Given the description of an element on the screen output the (x, y) to click on. 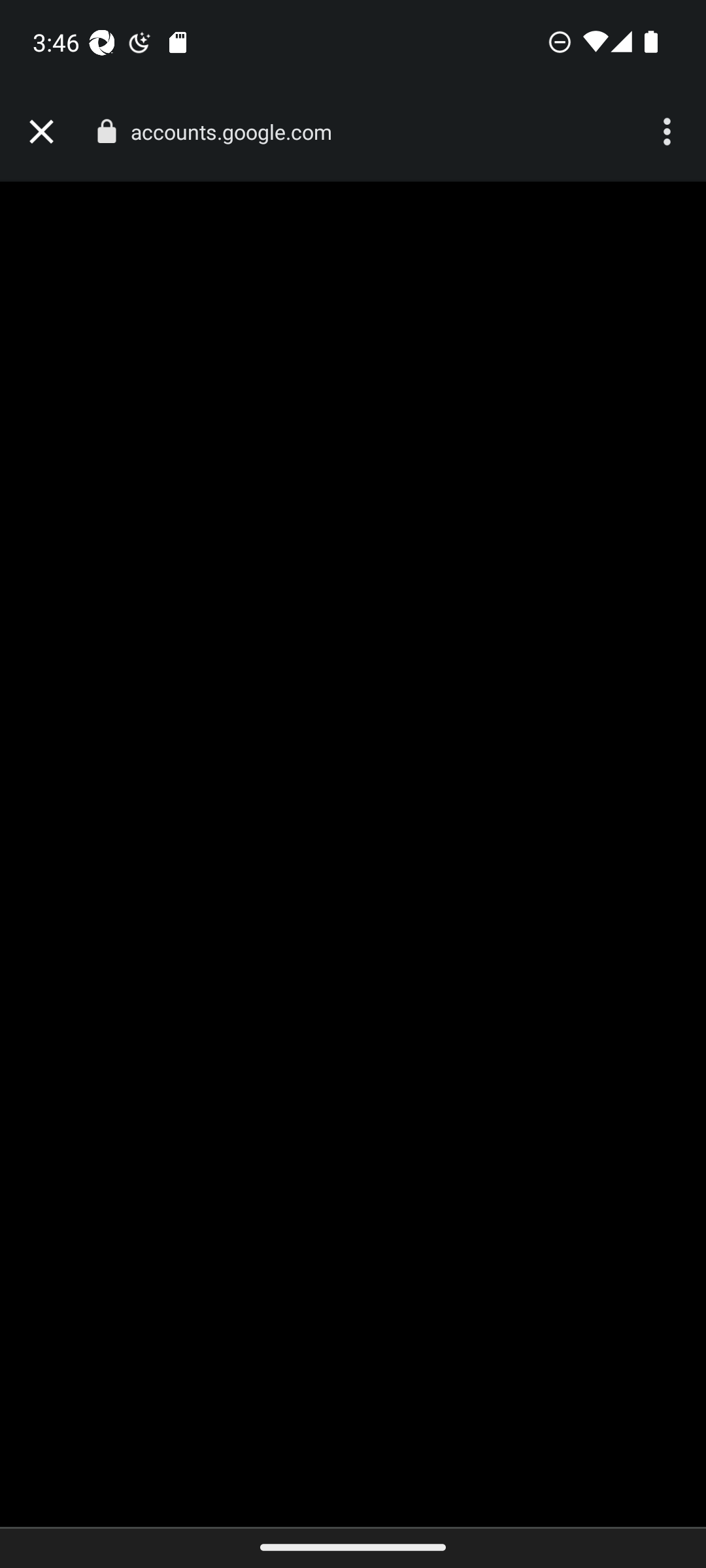
Close tab (41, 131)
More options (669, 131)
Connection is secure (106, 131)
accounts.google.com (237, 131)
